Given the description of an element on the screen output the (x, y) to click on. 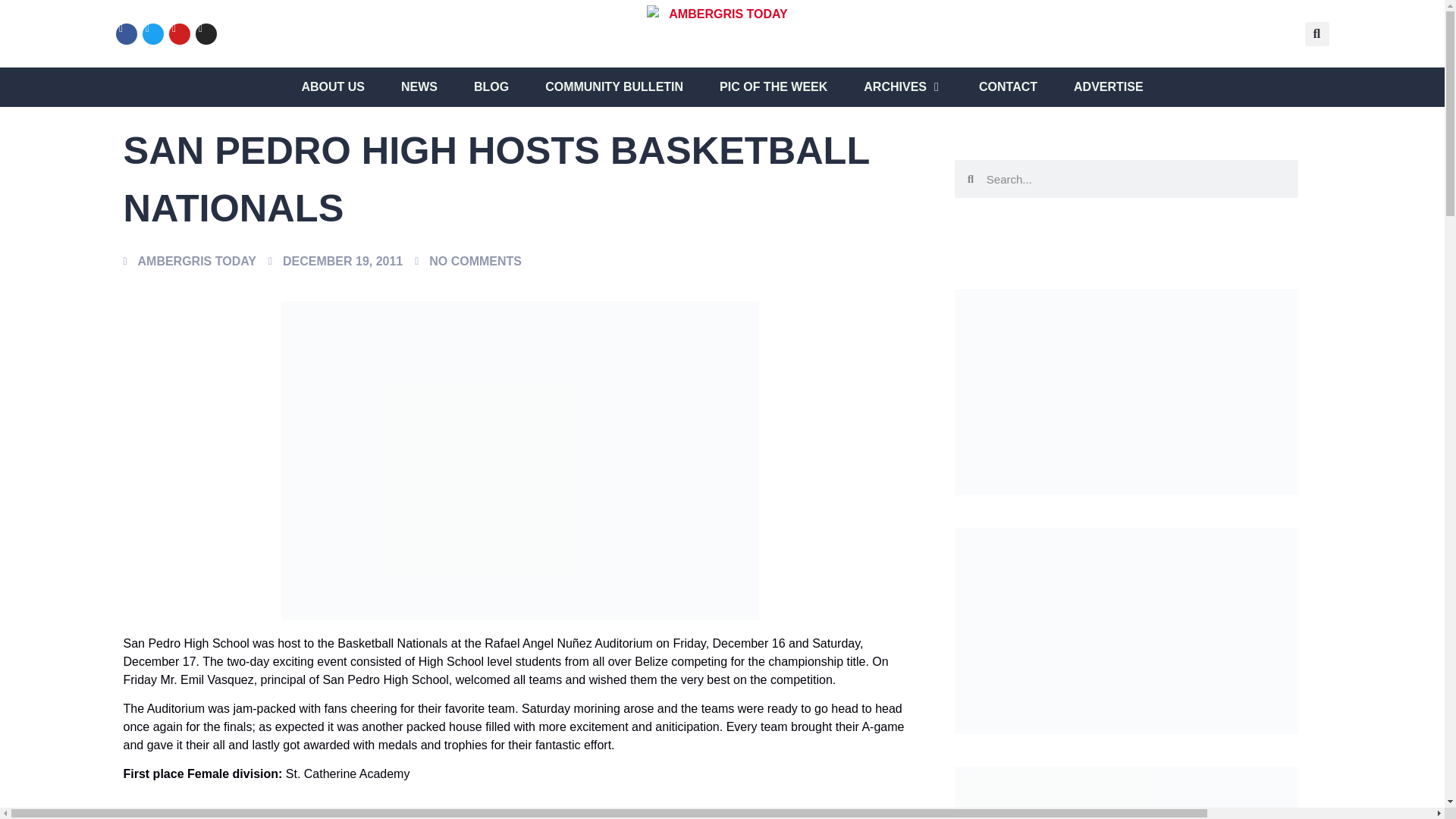
ABOUT US (333, 86)
NO COMMENTS (467, 261)
BLOG (491, 86)
ADVERTISE (1108, 86)
CONTACT (1007, 86)
AMBERGRIS TODAY (189, 261)
ARCHIVES (894, 86)
NEWS (419, 86)
COMMUNITY BULLETIN (613, 86)
PIC OF THE WEEK (773, 86)
